Given the description of an element on the screen output the (x, y) to click on. 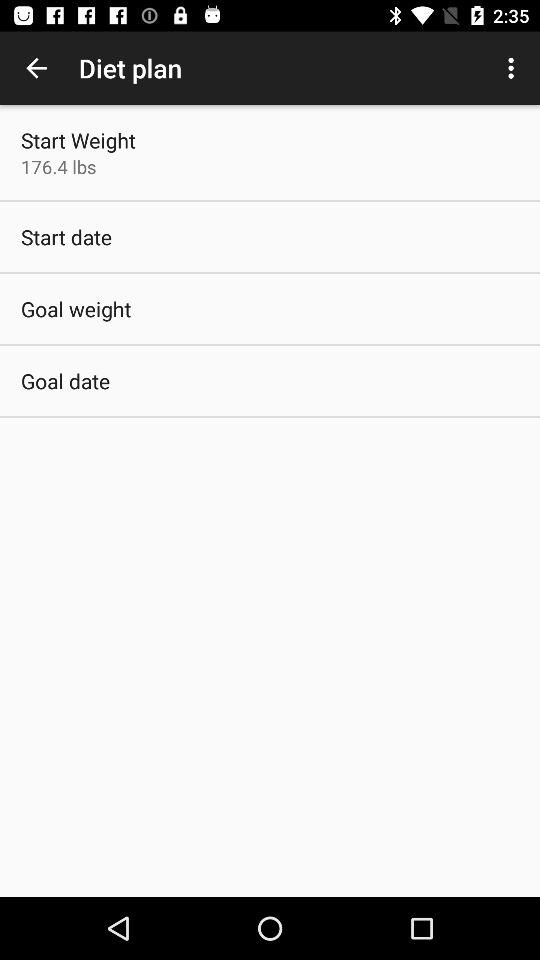
choose item above goal date app (76, 308)
